Given the description of an element on the screen output the (x, y) to click on. 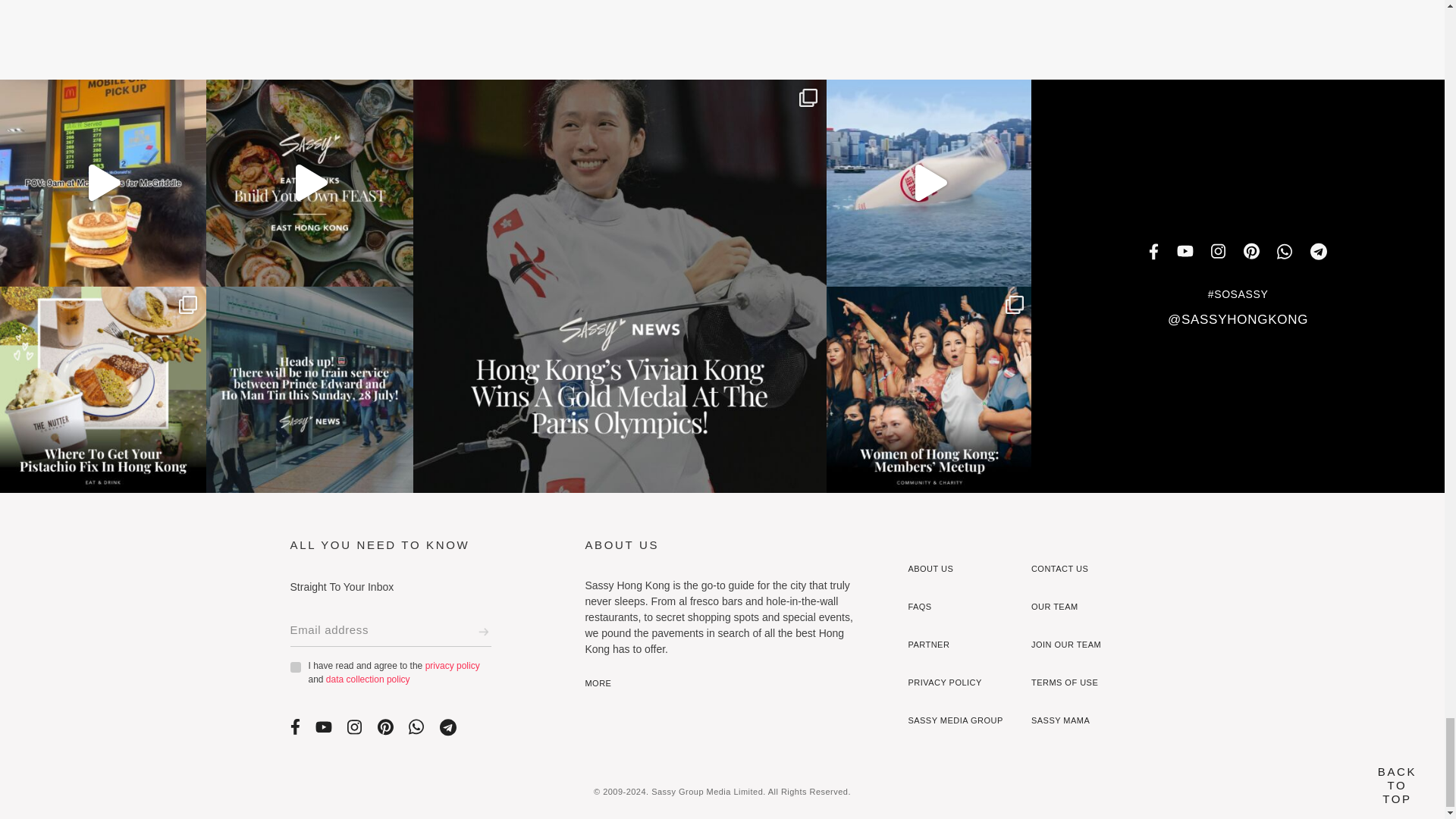
Sign Up (483, 631)
on (294, 666)
